Given the description of an element on the screen output the (x, y) to click on. 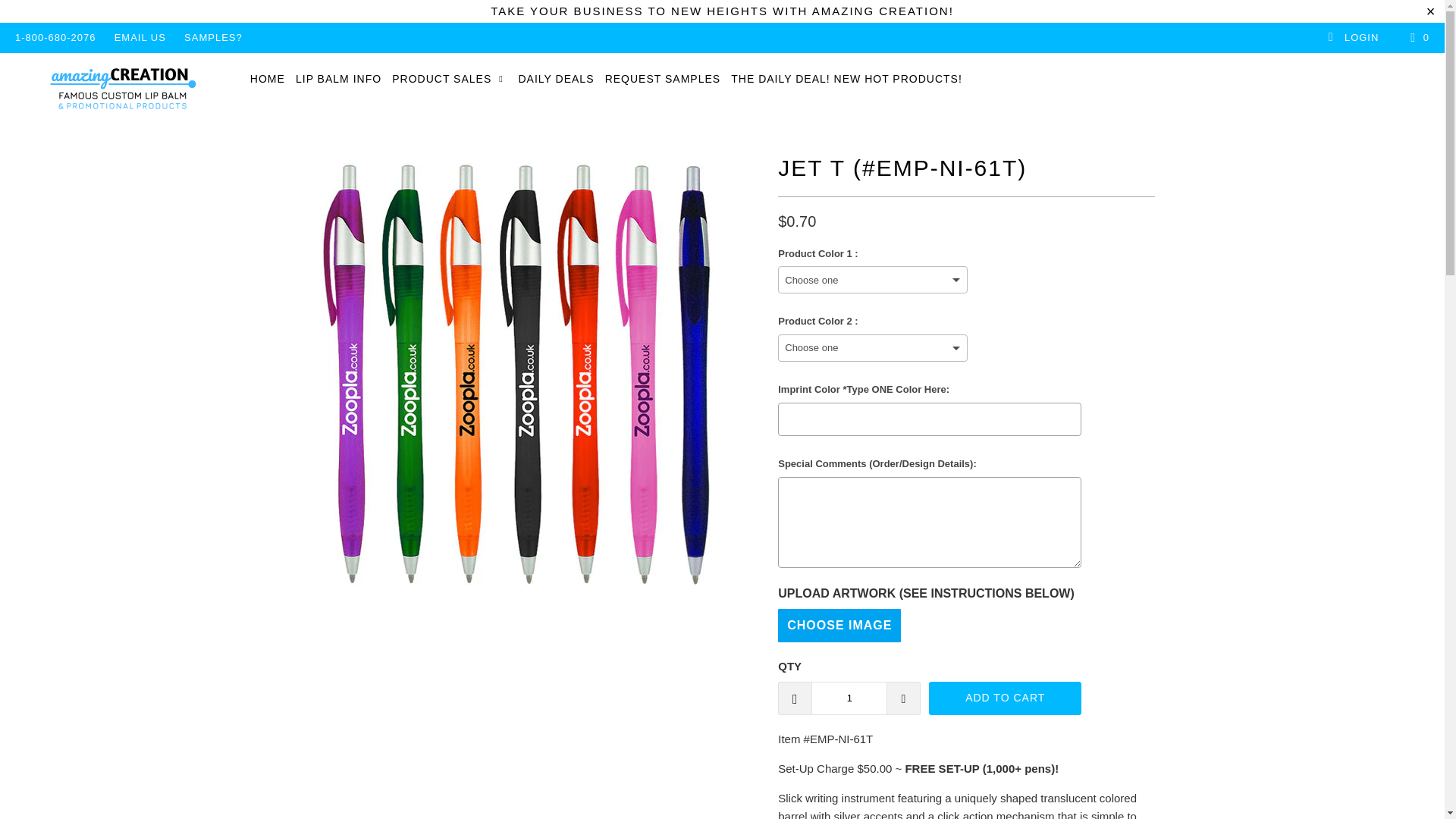
HOME (267, 78)
1 (848, 697)
1-800-680-2076 (55, 37)
Amazing Creation Promotional Products (122, 89)
PRODUCT SALES (448, 78)
EMAIL US (140, 37)
SAMPLES? (213, 37)
LIP BALM INFO (338, 78)
LOGIN (1352, 37)
My Account  (1352, 37)
